Given the description of an element on the screen output the (x, y) to click on. 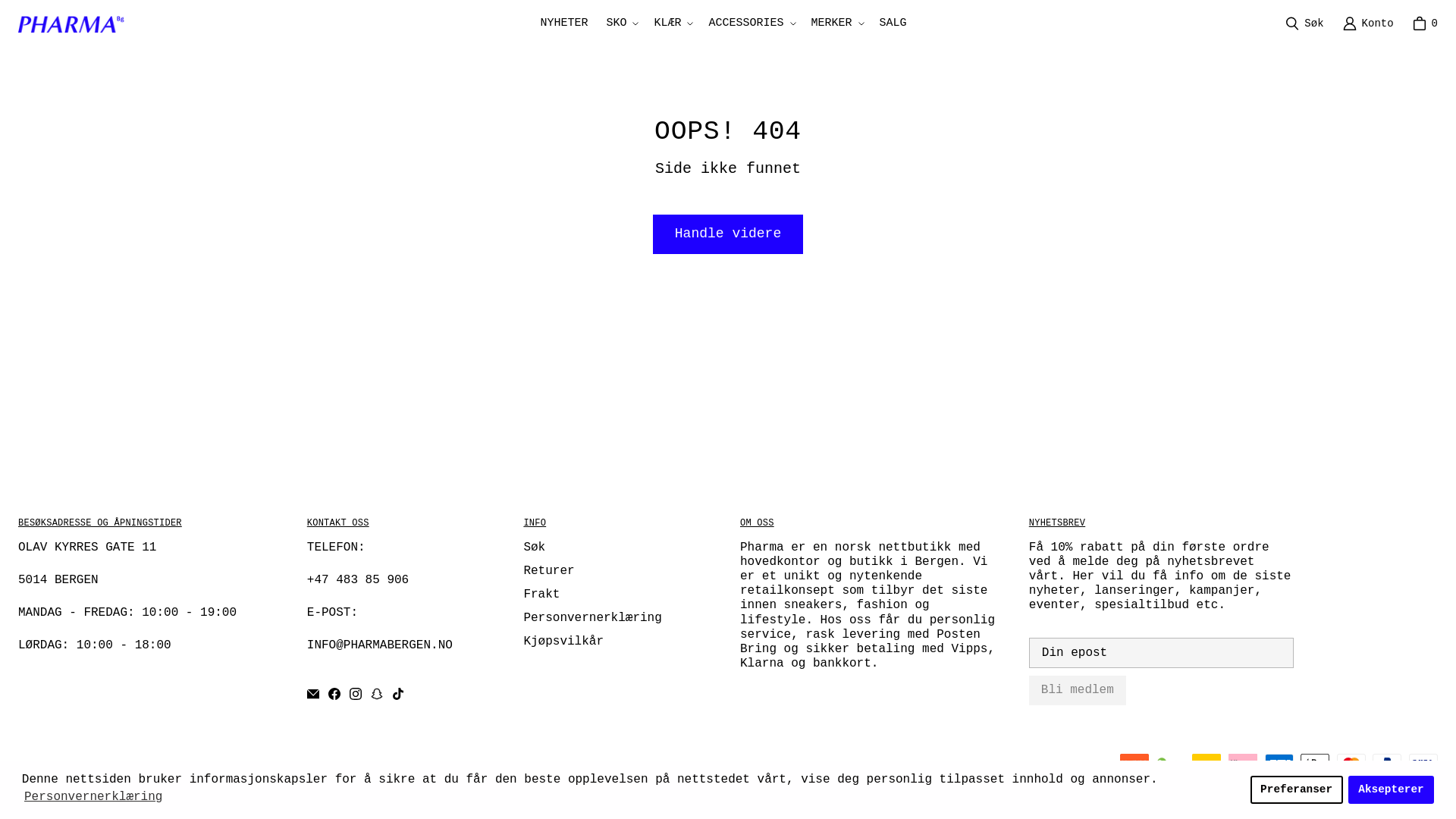
Apple Pay (1314, 762)
NYHETER (563, 23)
PayPal (1386, 762)
American Express (1279, 762)
Mastercard (1350, 762)
Visa (1423, 762)
